Given the description of an element on the screen output the (x, y) to click on. 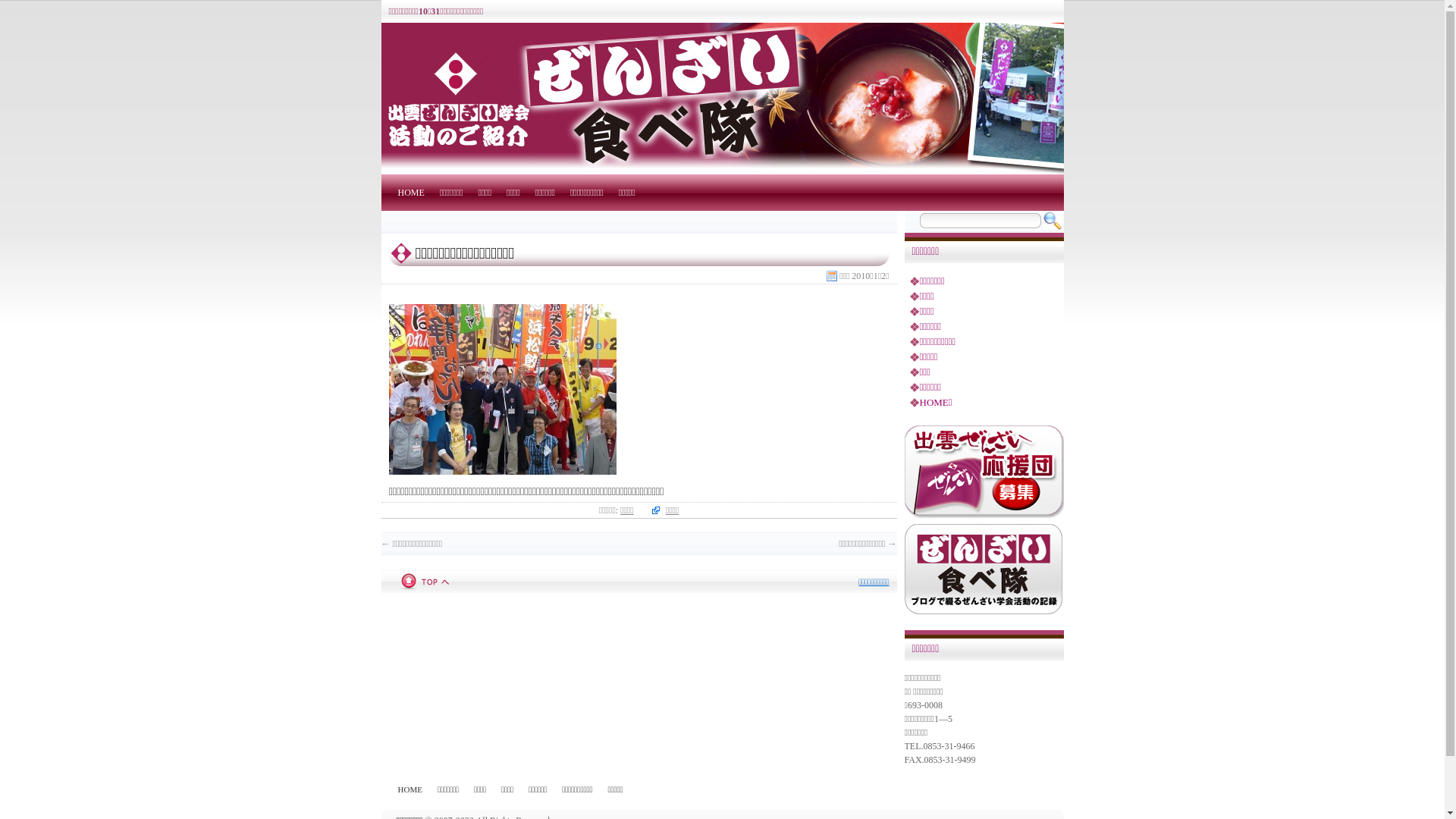
p1000074 Element type: hover (501, 389)
HOME Element type: text (409, 789)
HOME Element type: text (410, 192)
